Given the description of an element on the screen output the (x, y) to click on. 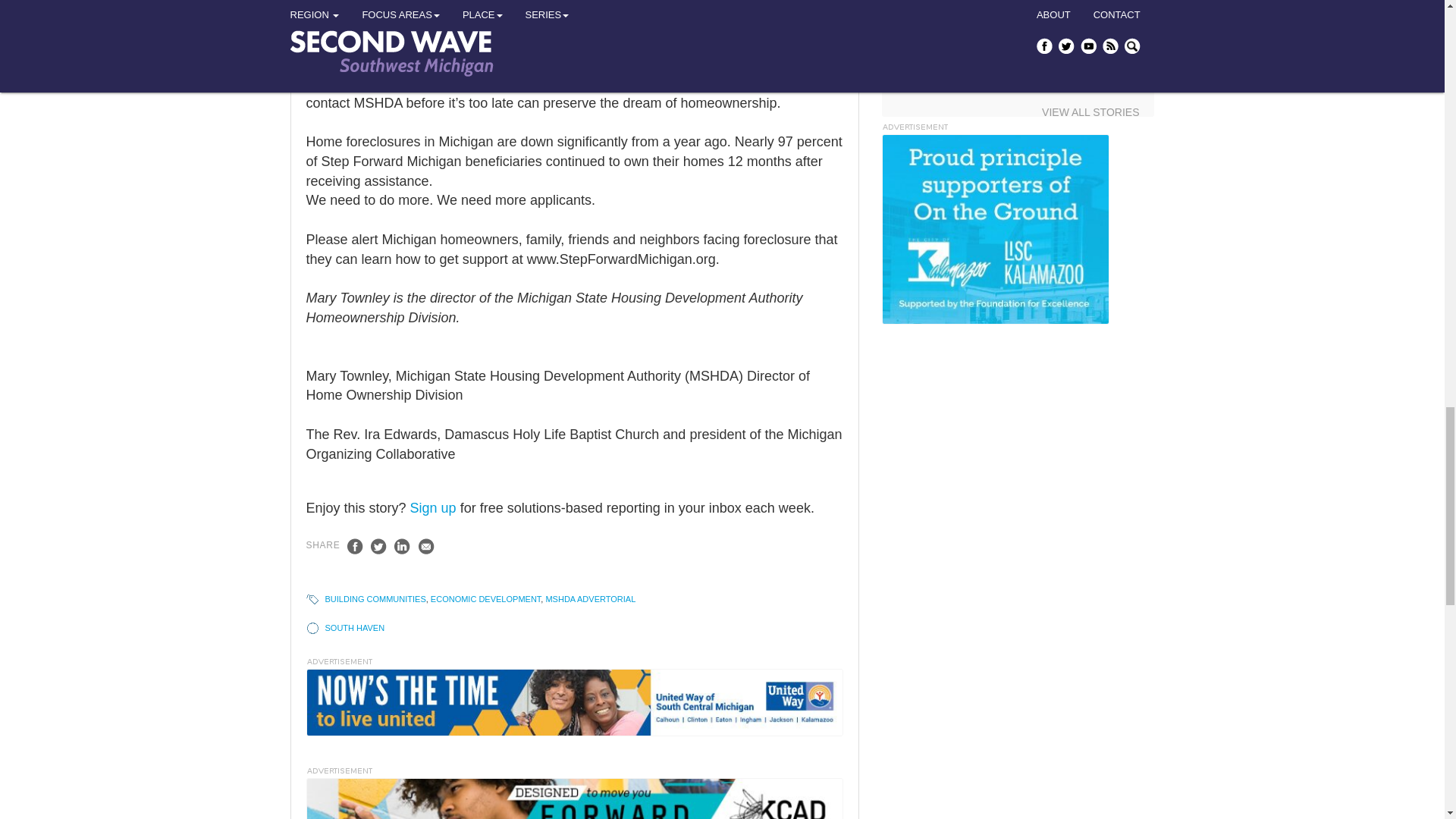
View more stories related to South Haven (354, 627)
Michigan LISC (994, 228)
KCAD (574, 798)
View more stories related to MSHDA Advertorial (589, 598)
View more stories related to Economic Development (485, 598)
View more stories related to Building Communities (374, 598)
